Given the description of an element on the screen output the (x, y) to click on. 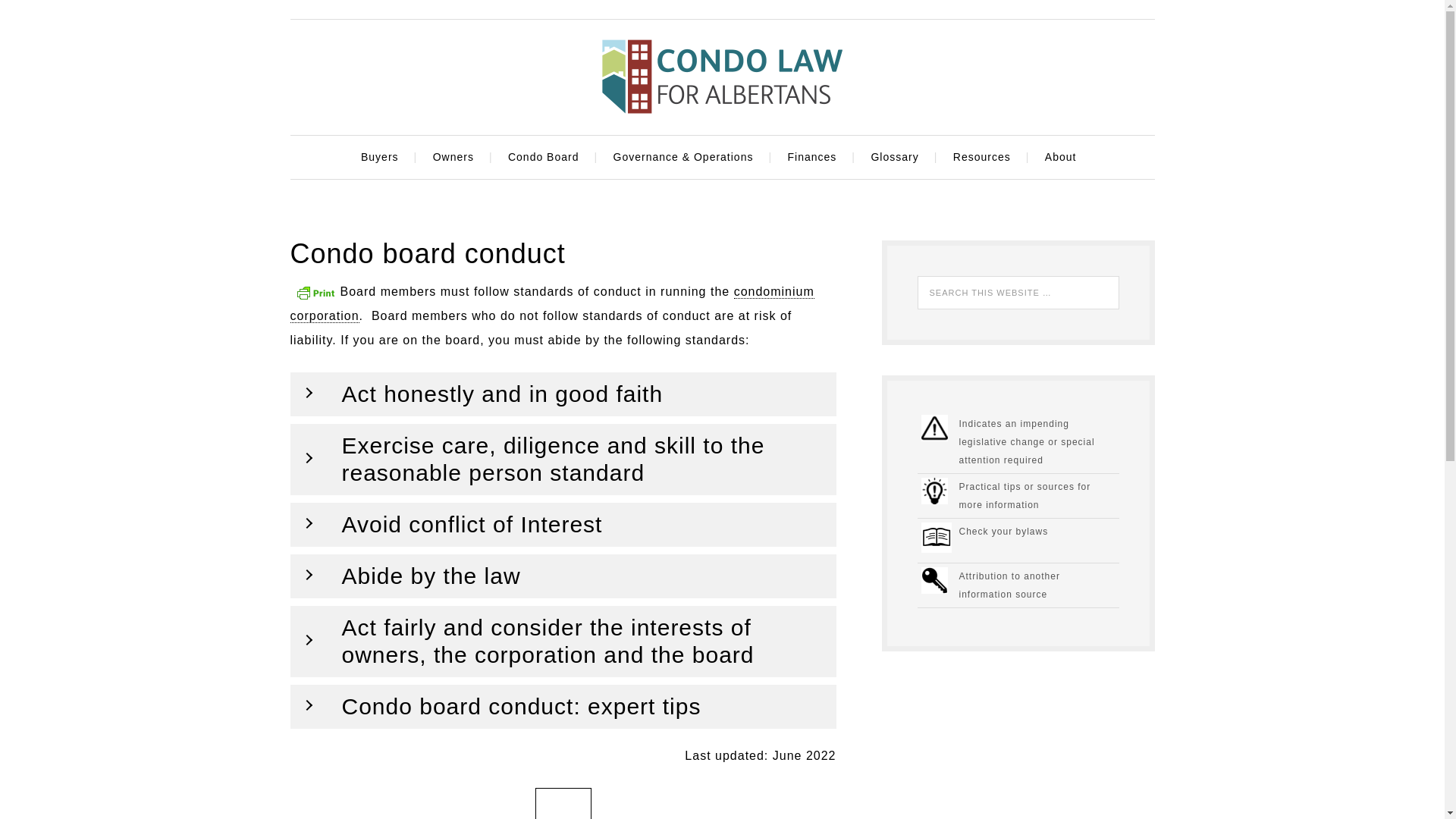
Condo Board (546, 157)
Buyers (382, 157)
Owners (457, 157)
CondoLawAlberta (721, 76)
Glossary: Condominium corporation (551, 303)
